Given the description of an element on the screen output the (x, y) to click on. 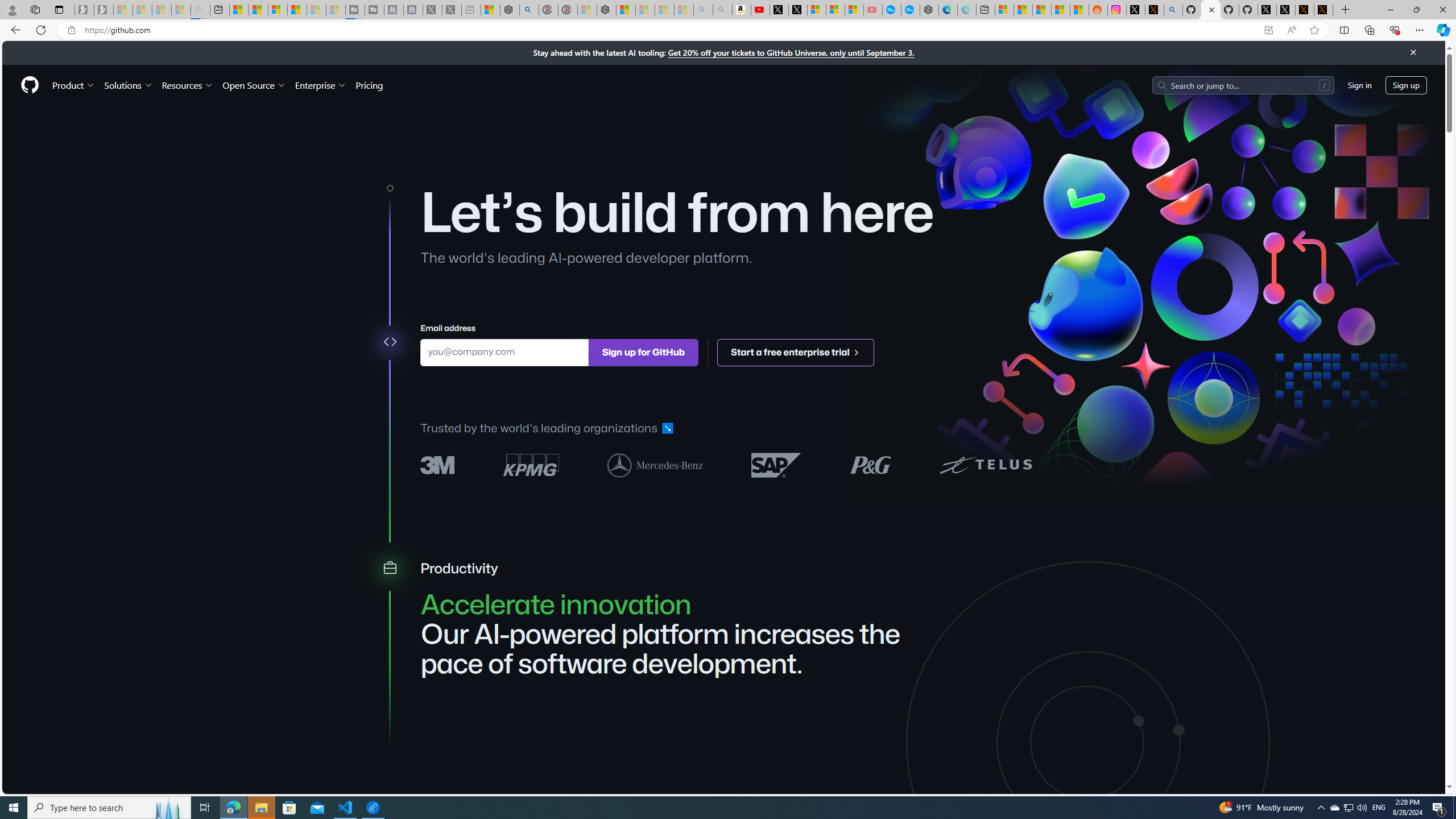
Amazon Echo Dot PNG - Search Images - Sleeping (721, 9)
Newsletter Sign Up - Sleeping (102, 9)
Sign in (1359, 84)
